Given the description of an element on the screen output the (x, y) to click on. 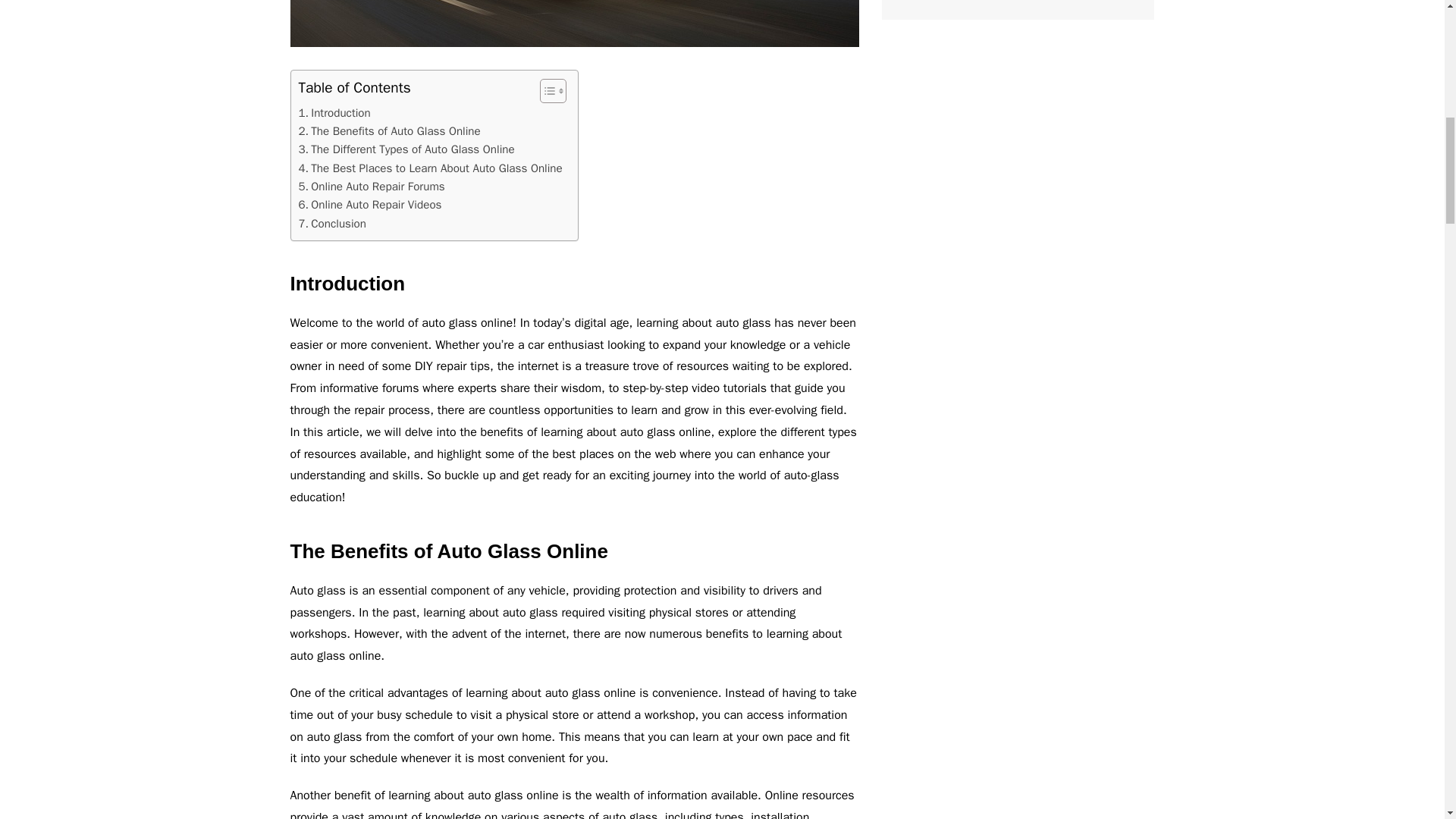
Online Auto Repair Videos (370, 204)
The Different Types of Auto Glass Online (406, 149)
Introduction (334, 113)
Online Auto Repair Forums (371, 186)
The Different Types of Auto Glass Online (406, 149)
Introduction (334, 113)
The Benefits of Auto Glass Online (389, 131)
The Best Places to Learn About Auto Glass Online (430, 167)
Online Auto Repair Videos (370, 204)
The Benefits of Auto Glass Online (389, 131)
